Given the description of an element on the screen output the (x, y) to click on. 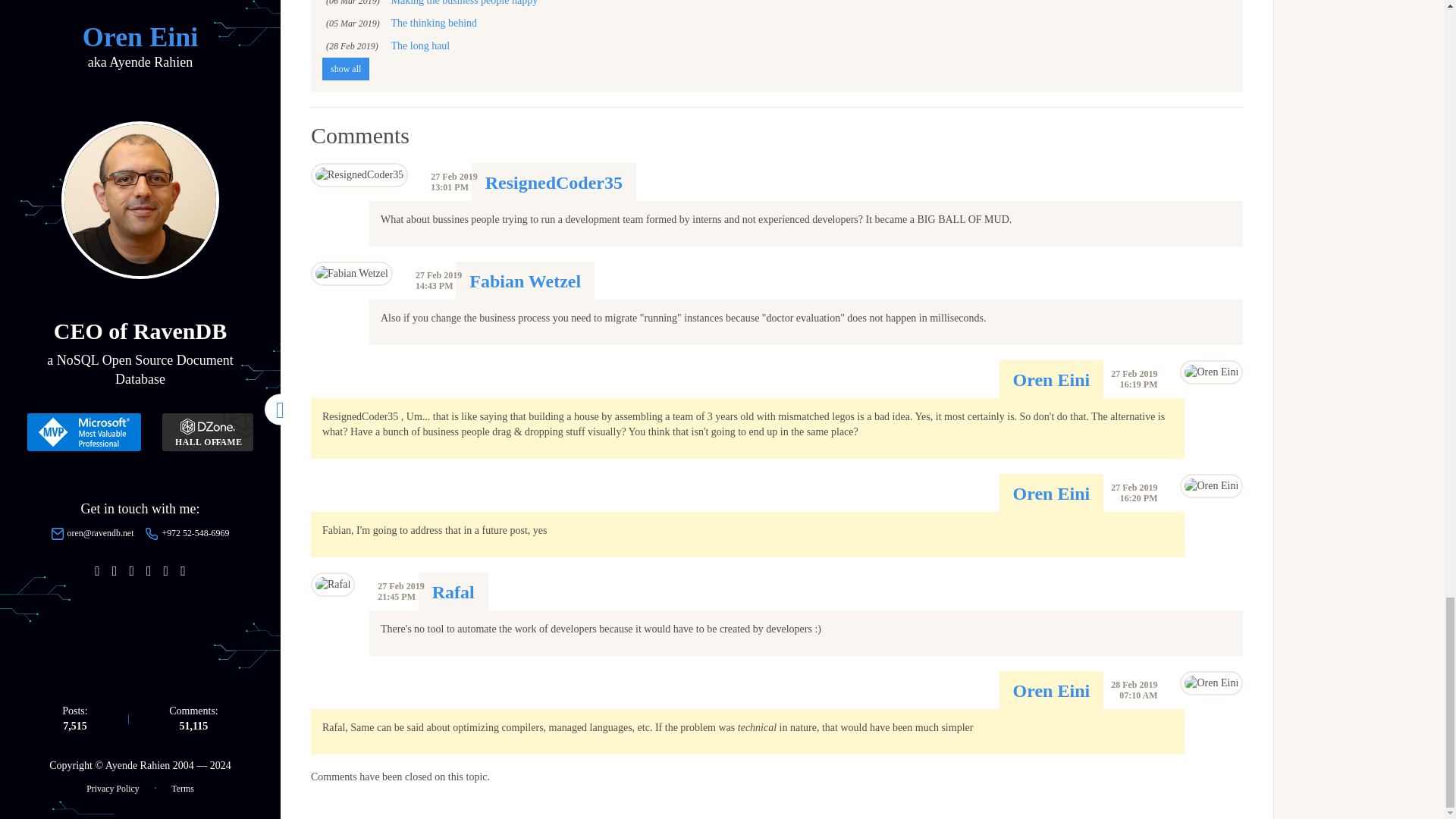
Comment by Oren Eini (1051, 379)
Comment by Oren Eini (1051, 493)
Comment by ResignedCoder35 (553, 182)
Comment by Rafal (453, 591)
Comment by Oren Eini (1051, 690)
Comment by Fabian Wetzel (524, 281)
